Given the description of an element on the screen output the (x, y) to click on. 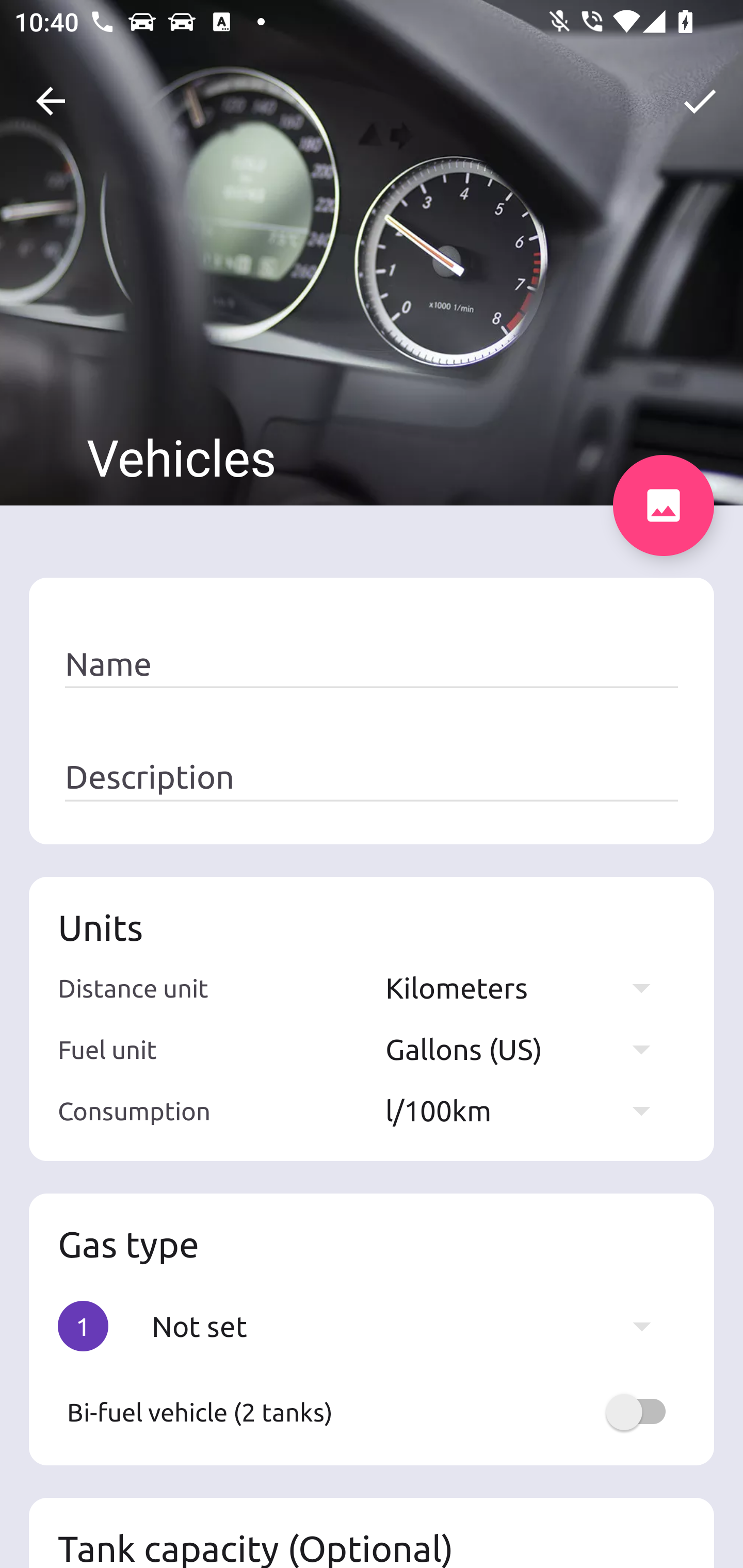
Navigate up (50, 101)
OK (699, 101)
Name (371, 664)
Description (371, 777)
Kilometers (527, 987)
Gallons (US) (527, 1048)
l/100km (527, 1110)
Not set (411, 1325)
Bi-fuel vehicle (2 tanks) (371, 1411)
